Given the description of an element on the screen output the (x, y) to click on. 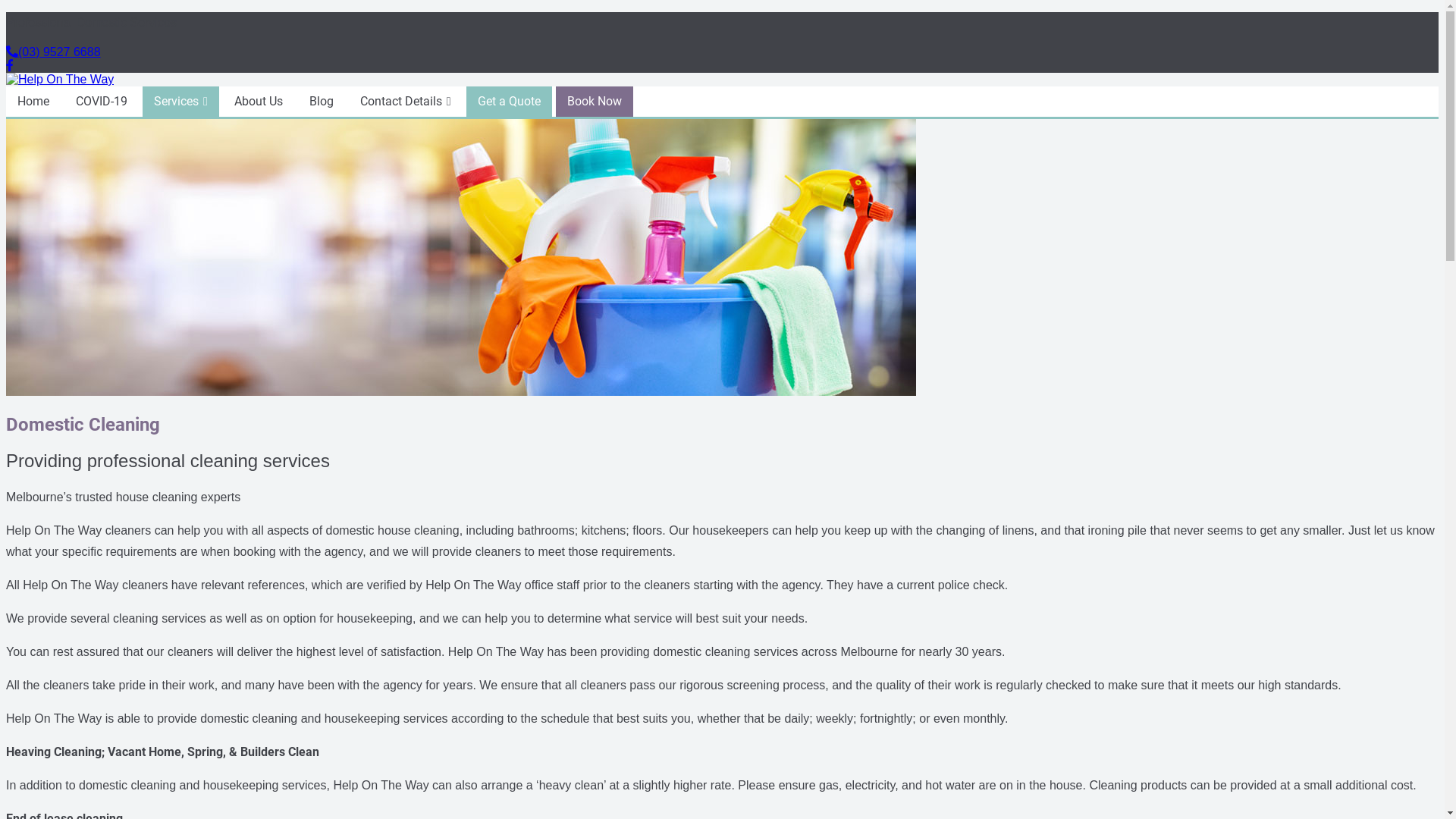
Home Element type: text (33, 101)
Contact Details Element type: text (405, 101)
About Us Element type: text (258, 101)
(03) 9527 6688 Element type: text (53, 51)
Book Now Element type: text (594, 101)
Services Element type: text (180, 101)
Blog Element type: text (321, 101)
Get a Quote Element type: text (509, 101)
Skip to content Element type: text (5, 11)
COVID-19 Element type: text (101, 101)
